Given the description of an element on the screen output the (x, y) to click on. 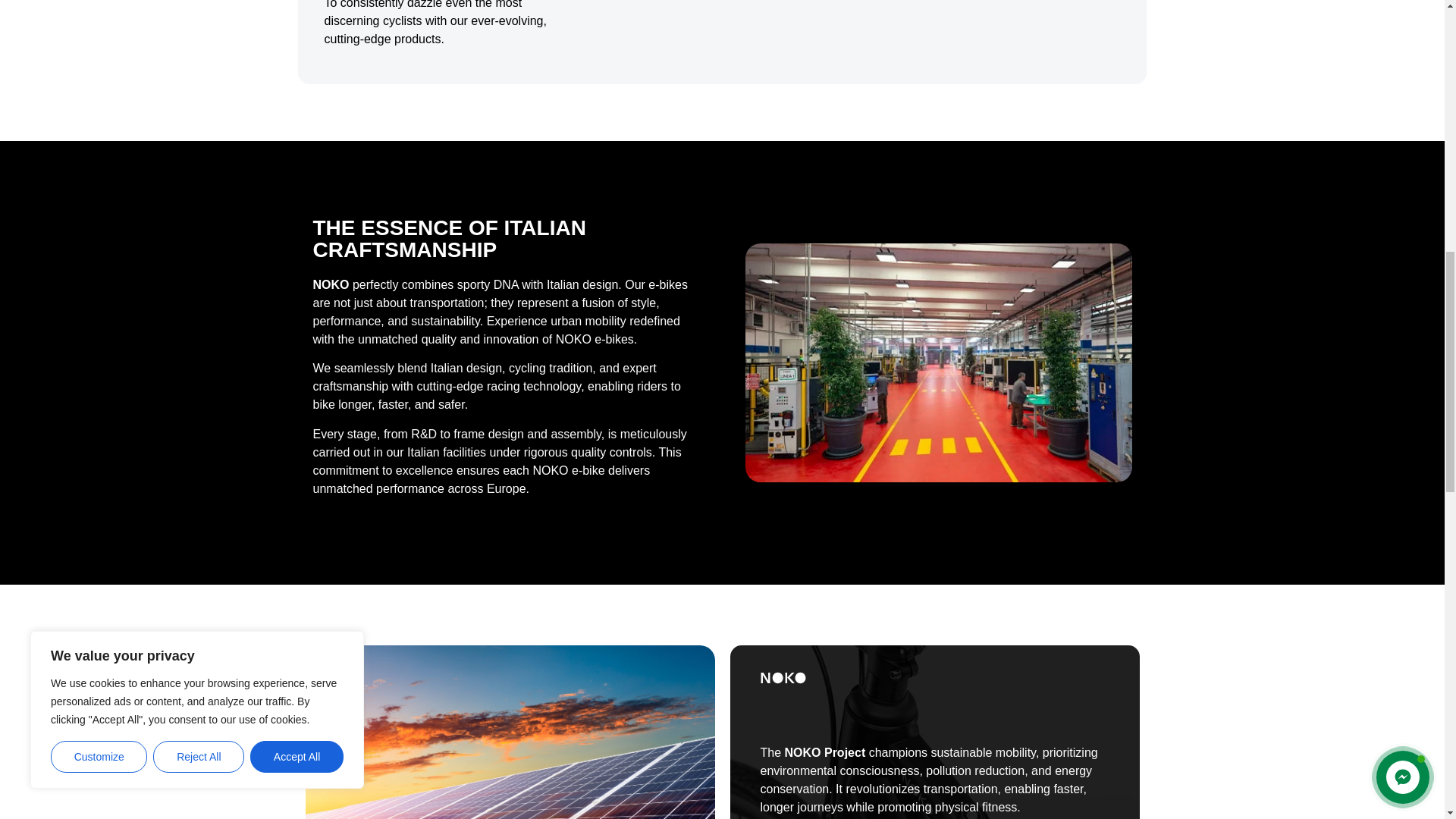
f2f2 (937, 362)
